Given the description of an element on the screen output the (x, y) to click on. 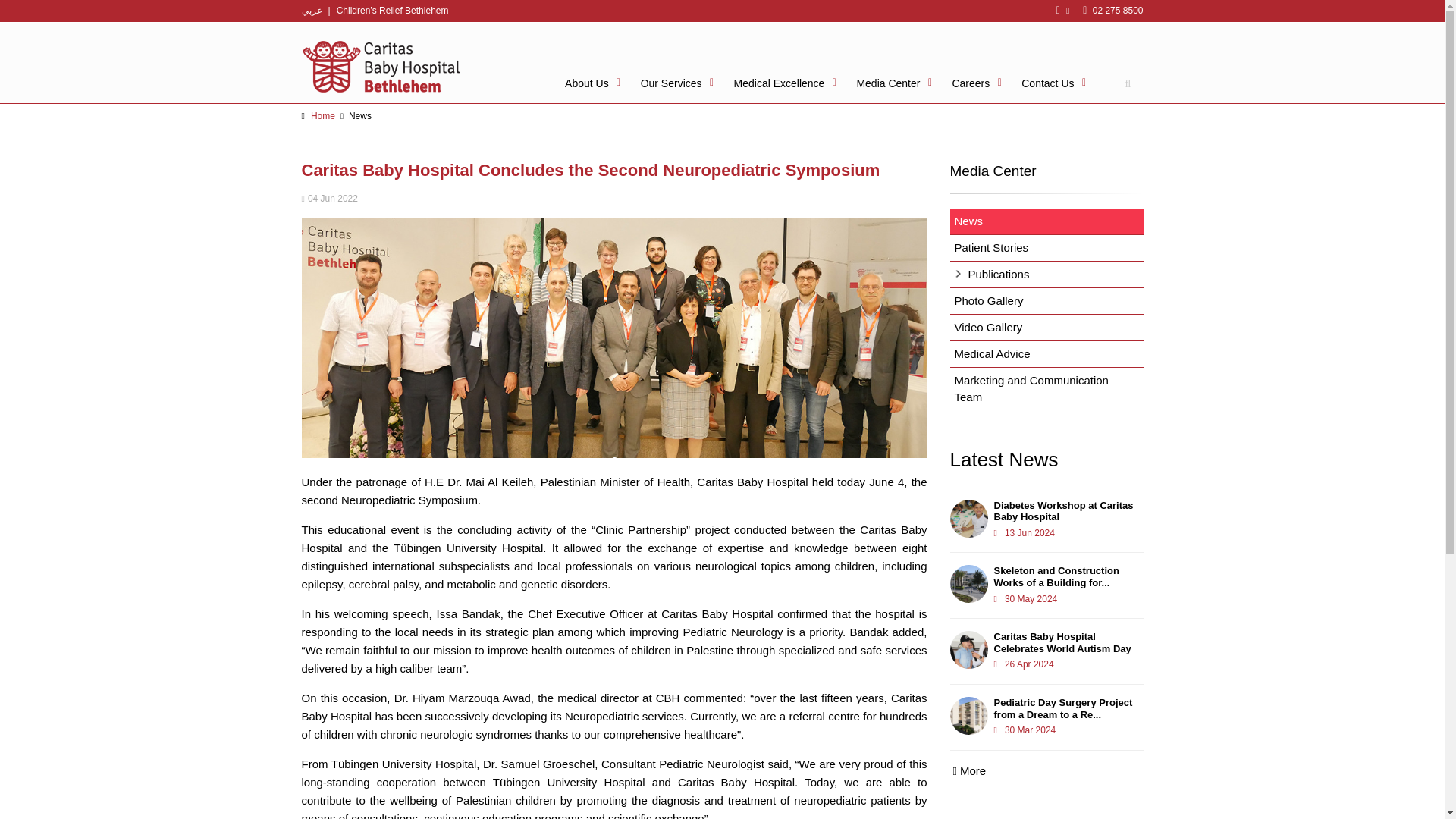
Our Services (675, 82)
About Us (590, 82)
Language (311, 9)
